Given the description of an element on the screen output the (x, y) to click on. 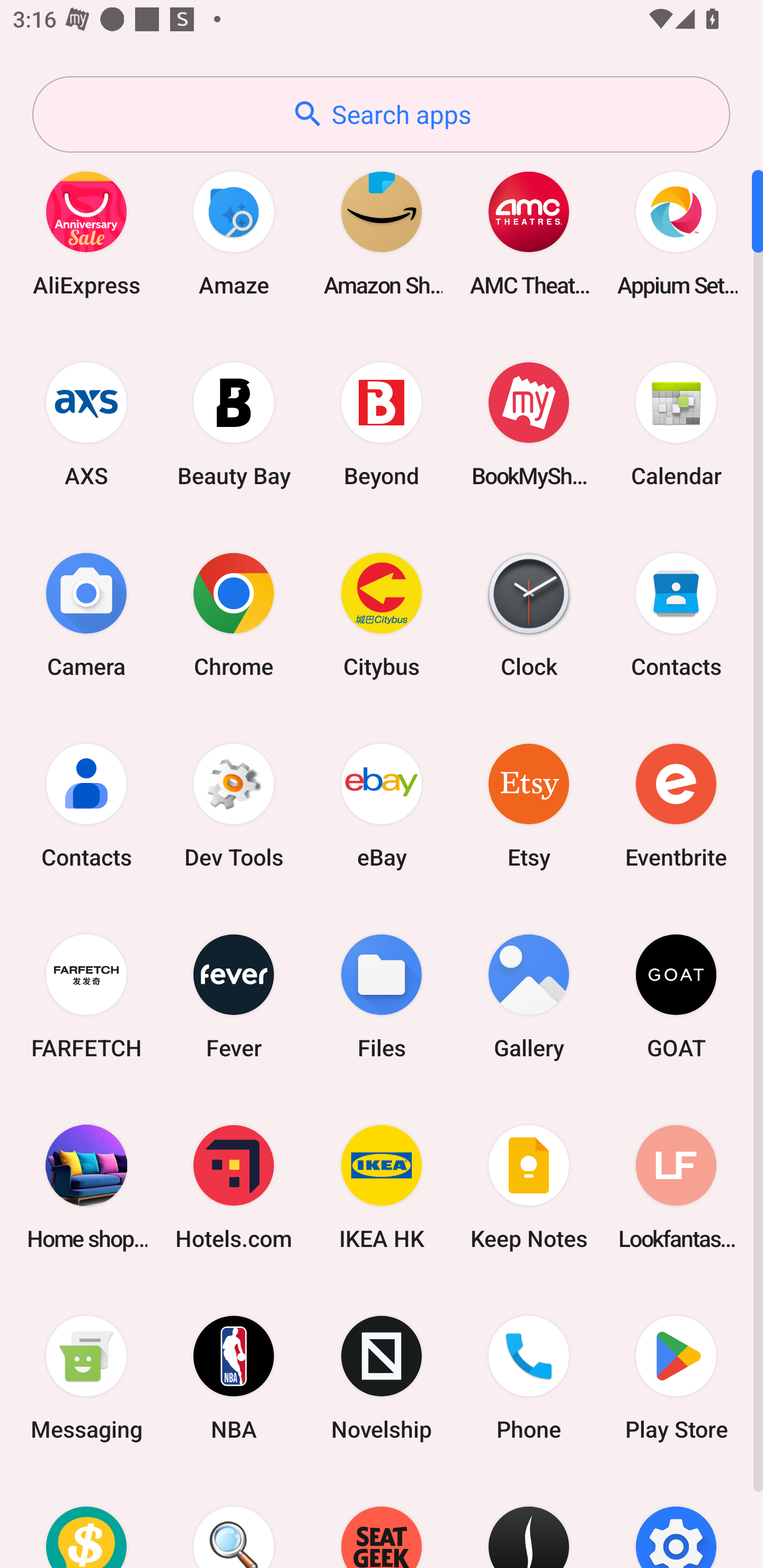
  Search apps (381, 114)
AliExpress (86, 233)
Amaze (233, 233)
Amazon Shopping (381, 233)
AMC Theatres (528, 233)
Appium Settings (676, 233)
AXS (86, 424)
Beauty Bay (233, 424)
Beyond (381, 424)
BookMyShow (528, 424)
Calendar (676, 424)
Camera (86, 614)
Chrome (233, 614)
Citybus (381, 614)
Clock (528, 614)
Contacts (676, 614)
Contacts (86, 805)
Dev Tools (233, 805)
eBay (381, 805)
Etsy (528, 805)
Eventbrite (676, 805)
FARFETCH (86, 996)
Fever (233, 996)
Files (381, 996)
Gallery (528, 996)
GOAT (676, 996)
Home shopping (86, 1186)
Hotels.com (233, 1186)
IKEA HK (381, 1186)
Keep Notes (528, 1186)
Lookfantastic (676, 1186)
Messaging (86, 1377)
NBA (233, 1377)
Novelship (381, 1377)
Phone (528, 1377)
Play Store (676, 1377)
Price (86, 1520)
Search (233, 1520)
SeatGeek (381, 1520)
Sephora (528, 1520)
Settings (676, 1520)
